Given the description of an element on the screen output the (x, y) to click on. 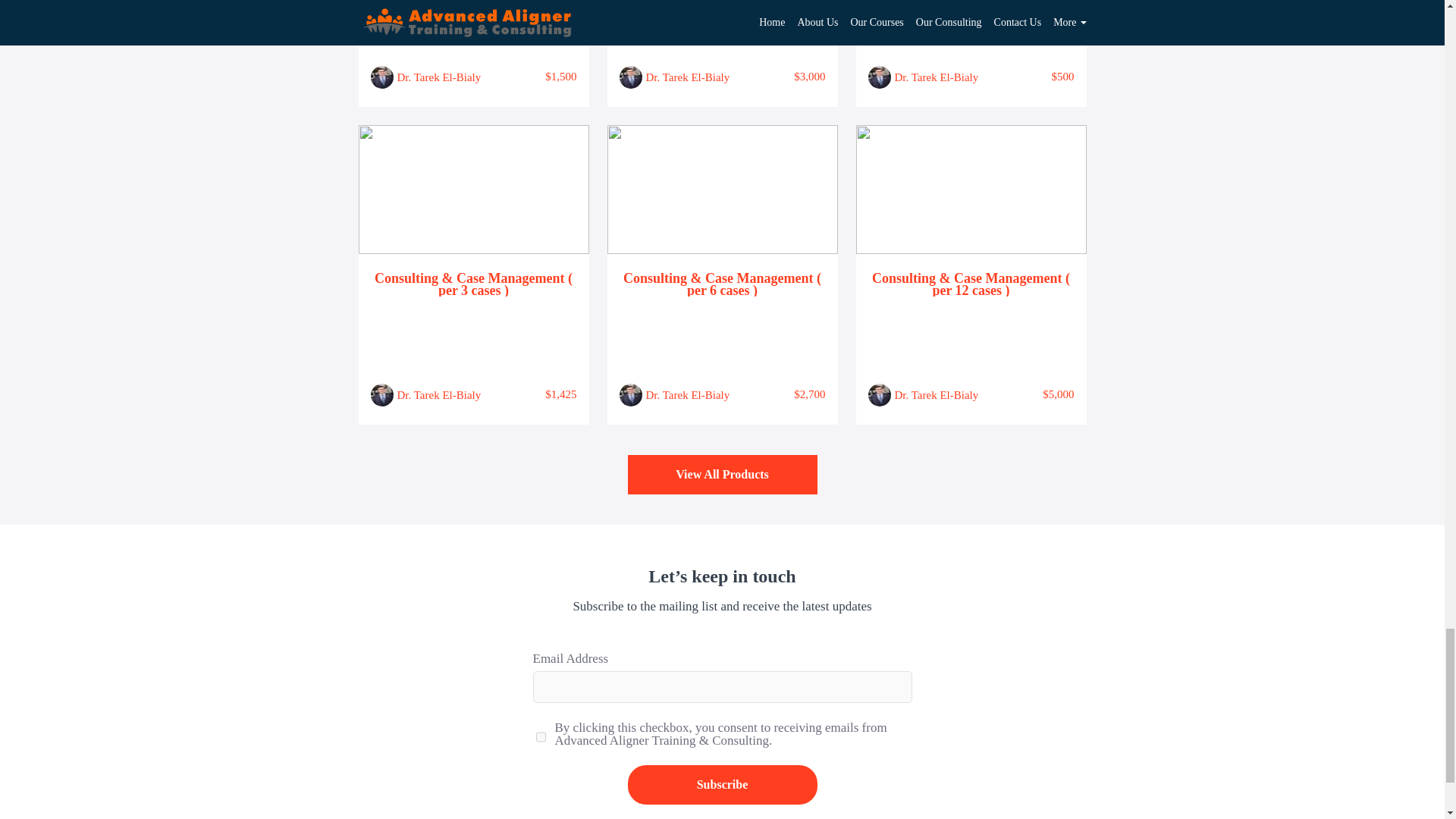
View All Products (721, 475)
Subscribe (721, 784)
View All Products (721, 474)
